Given the description of an element on the screen output the (x, y) to click on. 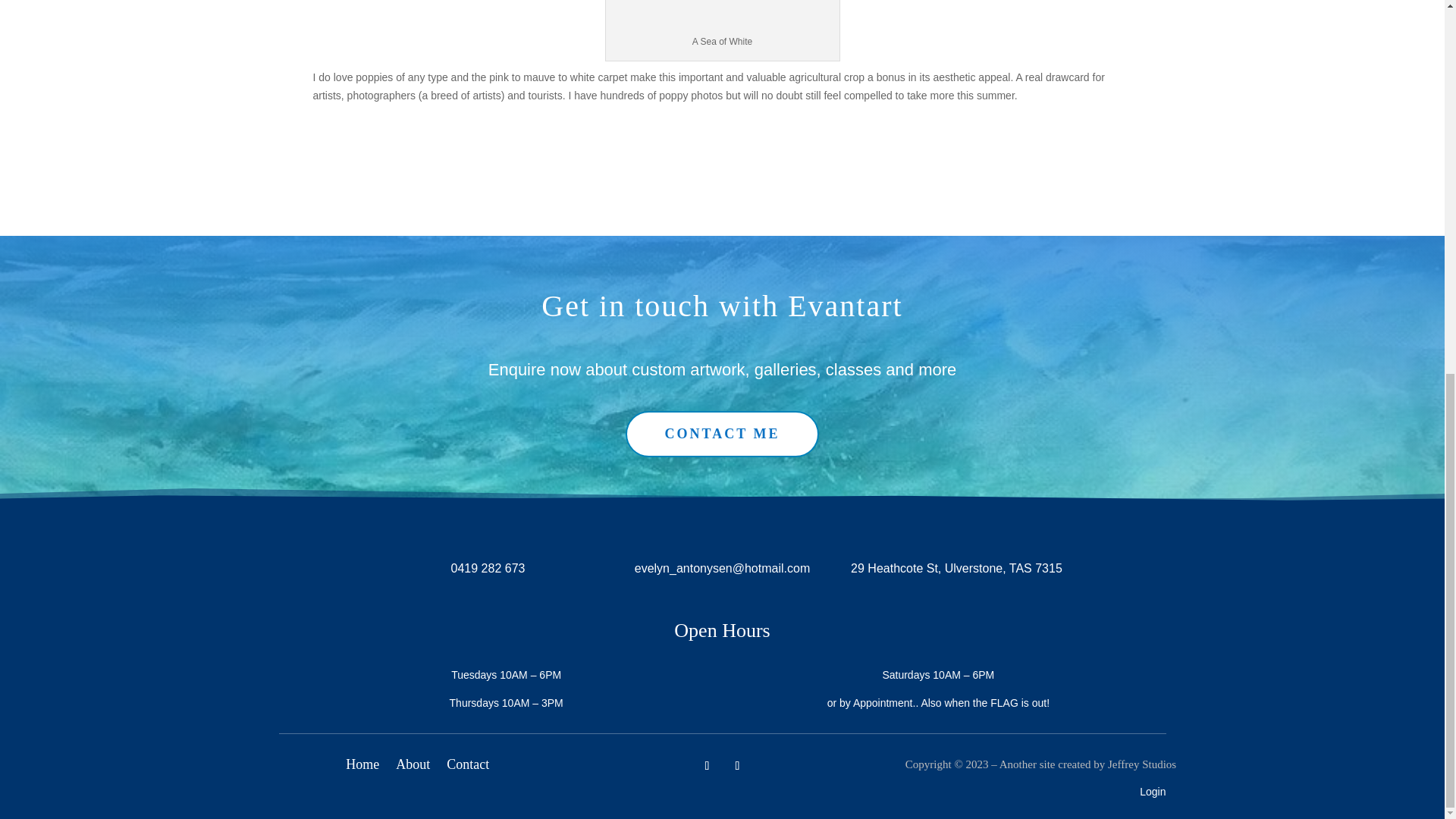
CONTACT ME (722, 434)
About (412, 767)
Login (1153, 791)
Follow on Facebook (706, 765)
Follow on Instagram (737, 765)
Contact (467, 767)
Poppy fields Deloraine (721, 16)
Home (362, 767)
